Given the description of an element on the screen output the (x, y) to click on. 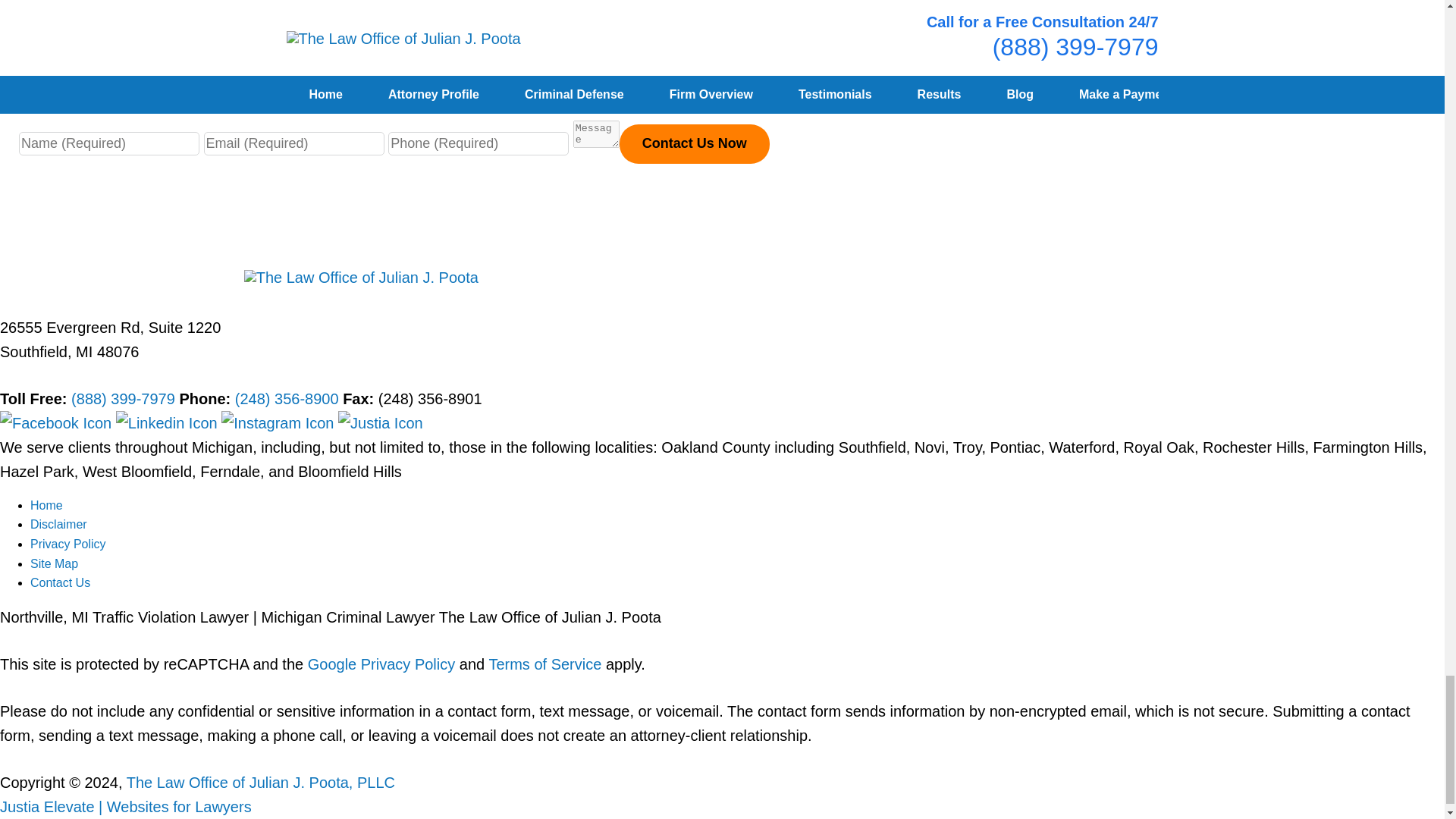
Instagram (279, 422)
Facebook (58, 422)
Linkedin (168, 422)
Contact Us Now (695, 143)
Justia (380, 422)
